Given the description of an element on the screen output the (x, y) to click on. 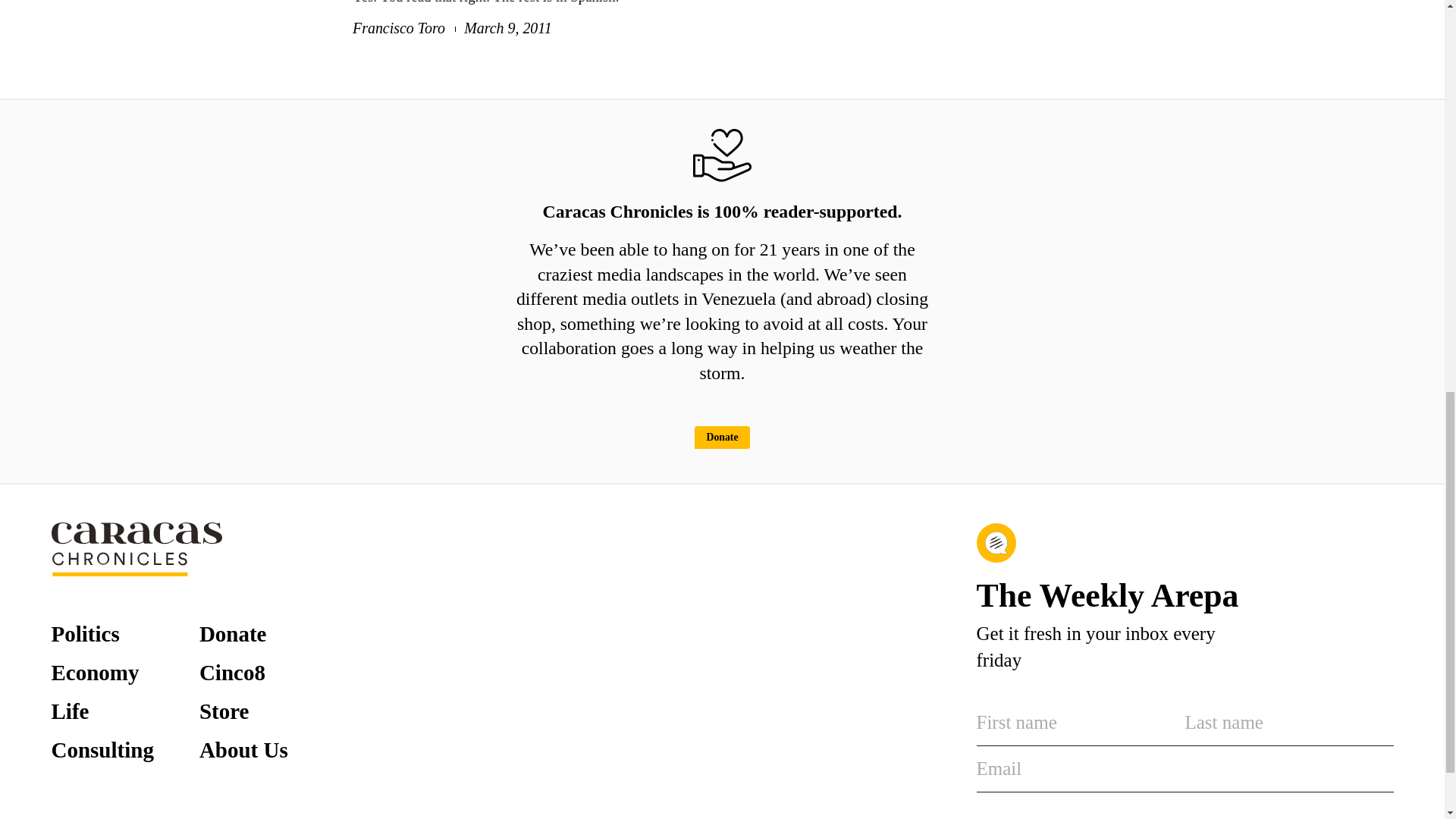
Donate (721, 436)
Francisco Toro (398, 27)
Life (69, 711)
Consulting (102, 750)
Politics (84, 634)
Cinco8 (231, 672)
Economy (94, 672)
Donate (232, 634)
Store (223, 711)
About Us (243, 750)
